Given the description of an element on the screen output the (x, y) to click on. 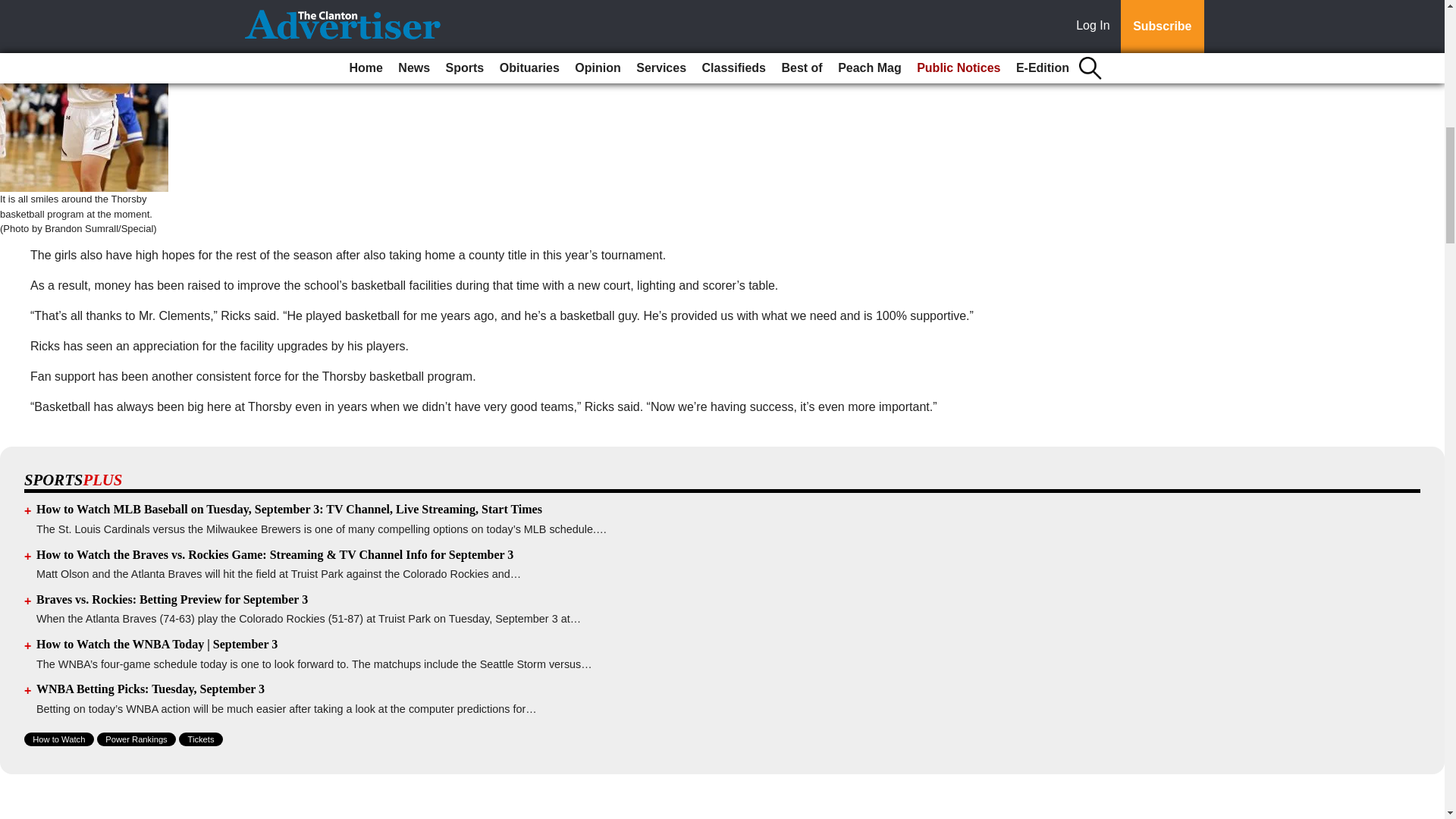
Power Rankings (136, 739)
Braves vs. Rockies: Betting Preview for September 3 (171, 599)
Tickets (200, 739)
How to Watch (59, 739)
WNBA Betting Picks: Tuesday, September 3 (150, 688)
